Given the description of an element on the screen output the (x, y) to click on. 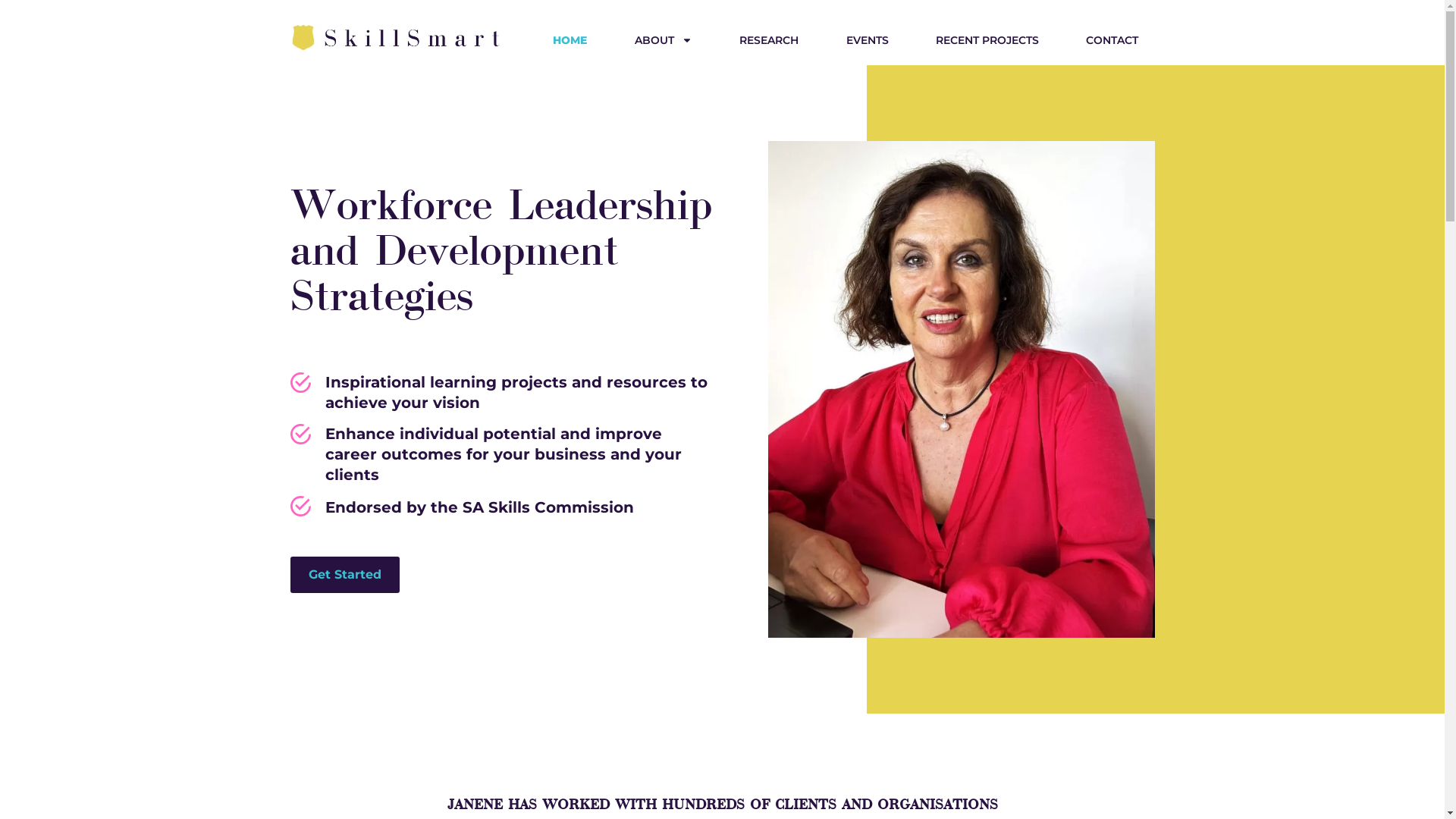
Get Started Element type: text (343, 574)
RECENT PROJECTS Element type: text (986, 39)
ABOUT Element type: text (663, 39)
RESEARCH Element type: text (768, 39)
EVENTS Element type: text (866, 39)
HOME Element type: text (569, 39)
Endorsed by the SA Skills Commission Element type: text (501, 506)
CONTACT Element type: text (1112, 39)
